Given the description of an element on the screen output the (x, y) to click on. 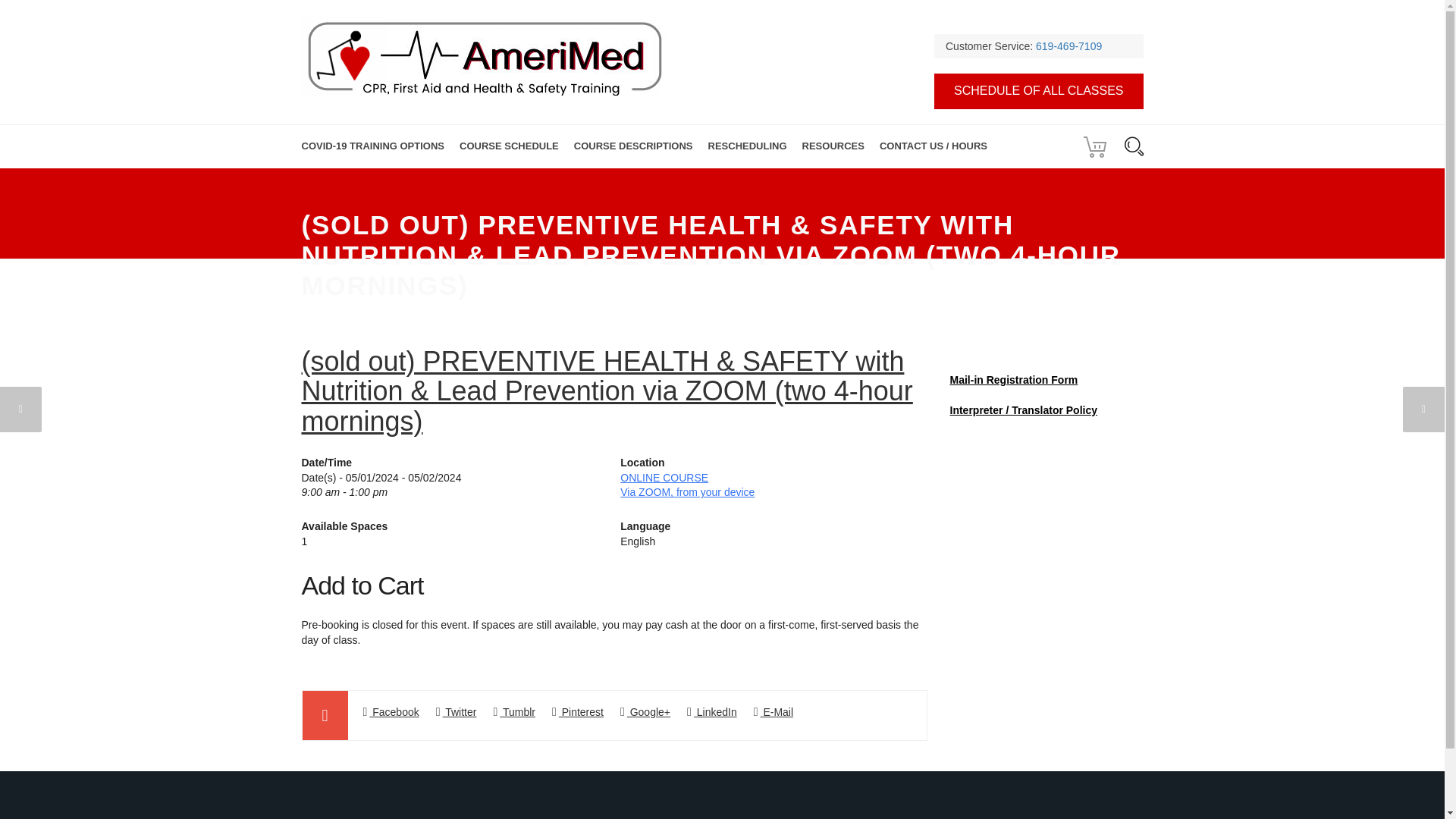
COURSE DESCRIPTIONS (633, 146)
Course Schedule (508, 146)
Twitter (456, 711)
619-469-7109 (1068, 46)
Via ZOOM, from your device (687, 491)
Tumblr (514, 711)
Resources (833, 146)
Course Descriptions (633, 146)
SCHEDULE OF ALL CLASSES (1038, 90)
ONLINE COURSE (663, 477)
